Given the description of an element on the screen output the (x, y) to click on. 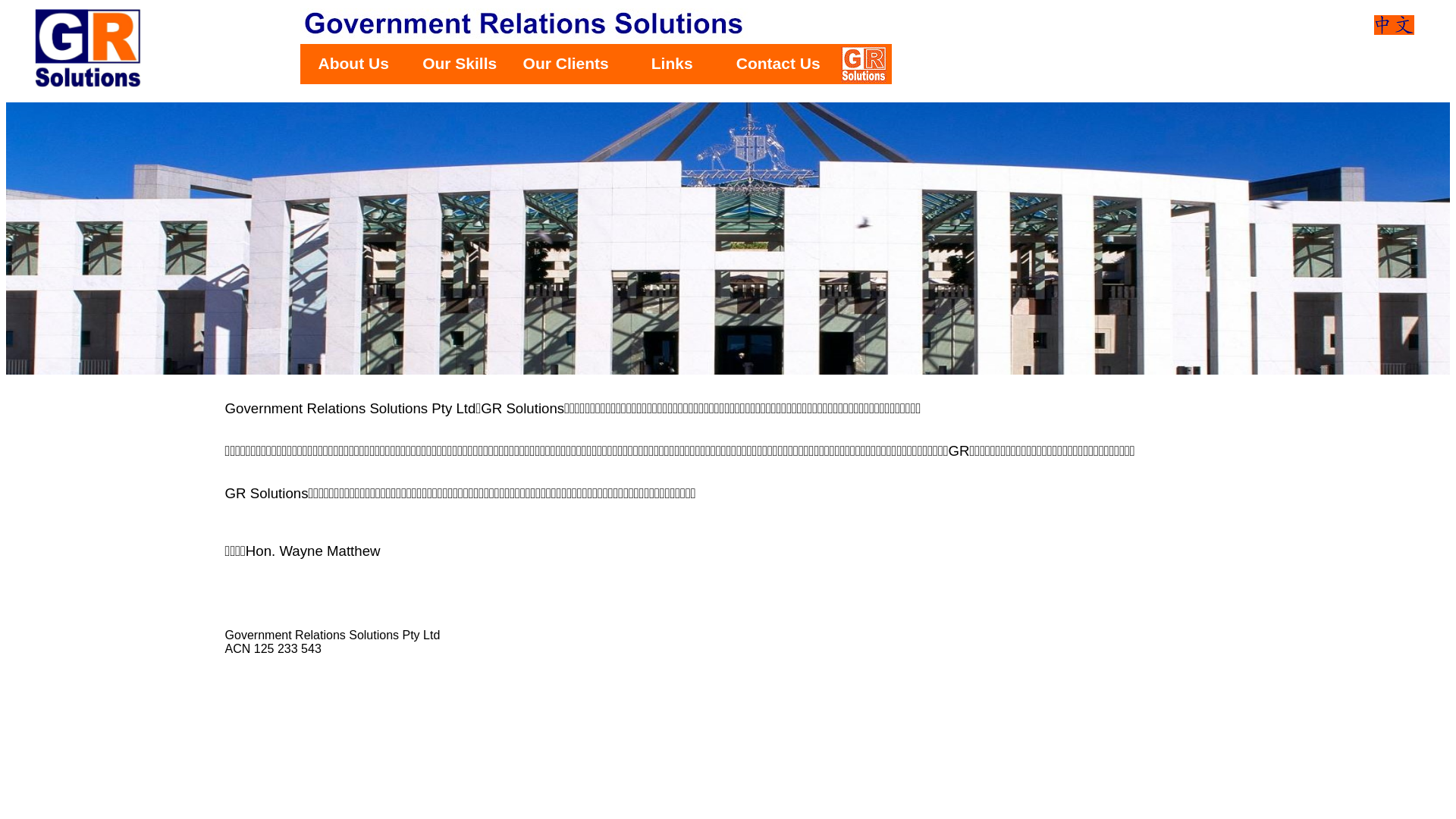
Contact Us Element type: text (777, 62)
Our Skills Element type: text (459, 62)
Links Element type: text (671, 62)
About Us Element type: text (353, 62)
Our Clients Element type: text (565, 62)
